Given the description of an element on the screen output the (x, y) to click on. 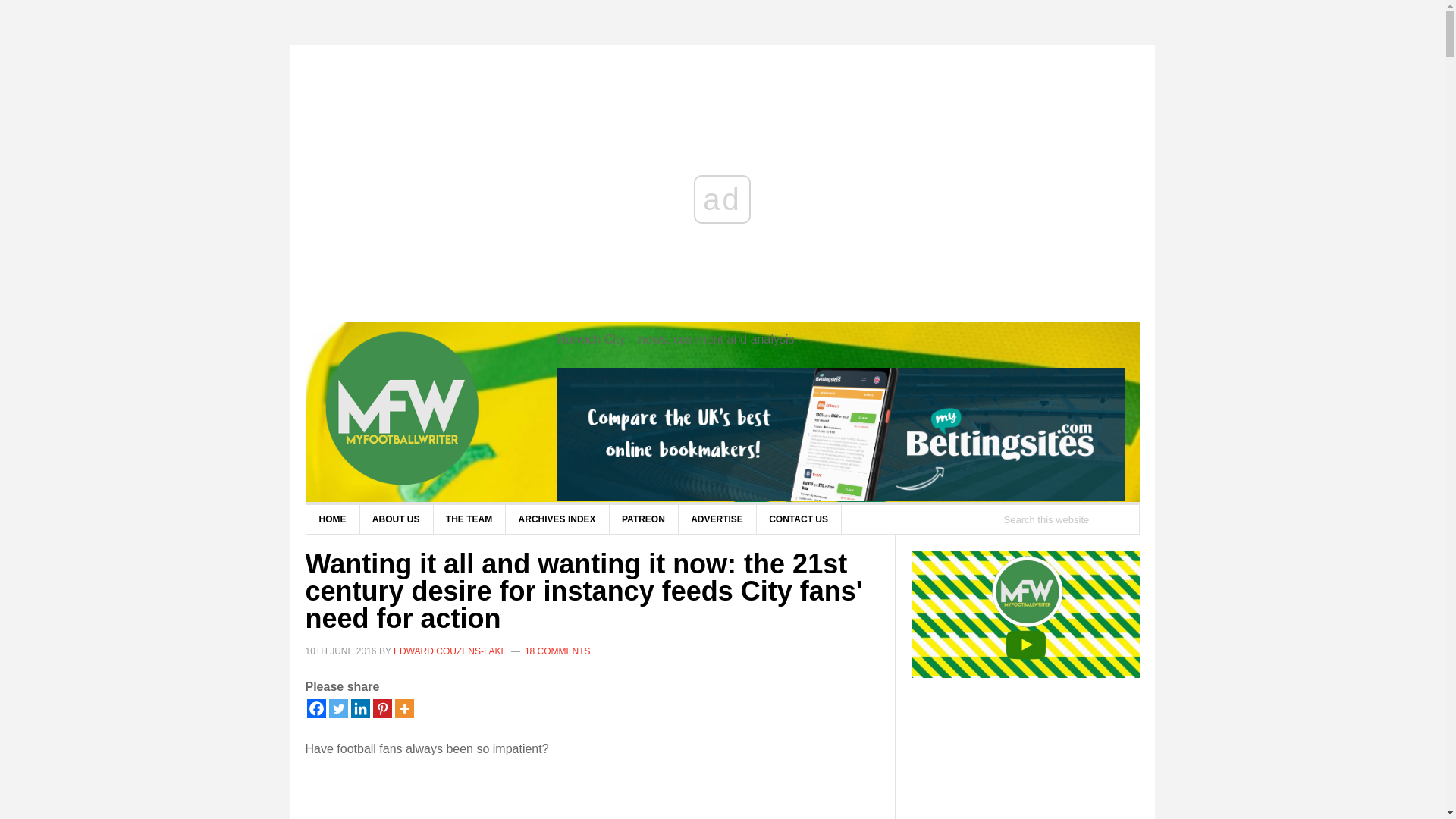
HOME (332, 519)
Pinterest (381, 708)
CONTACT US (798, 519)
THE TEAM (468, 519)
More (403, 708)
Linkedin (359, 708)
ADVERTISE (717, 519)
MY FOOTBALL WRITER (426, 409)
